Given the description of an element on the screen output the (x, y) to click on. 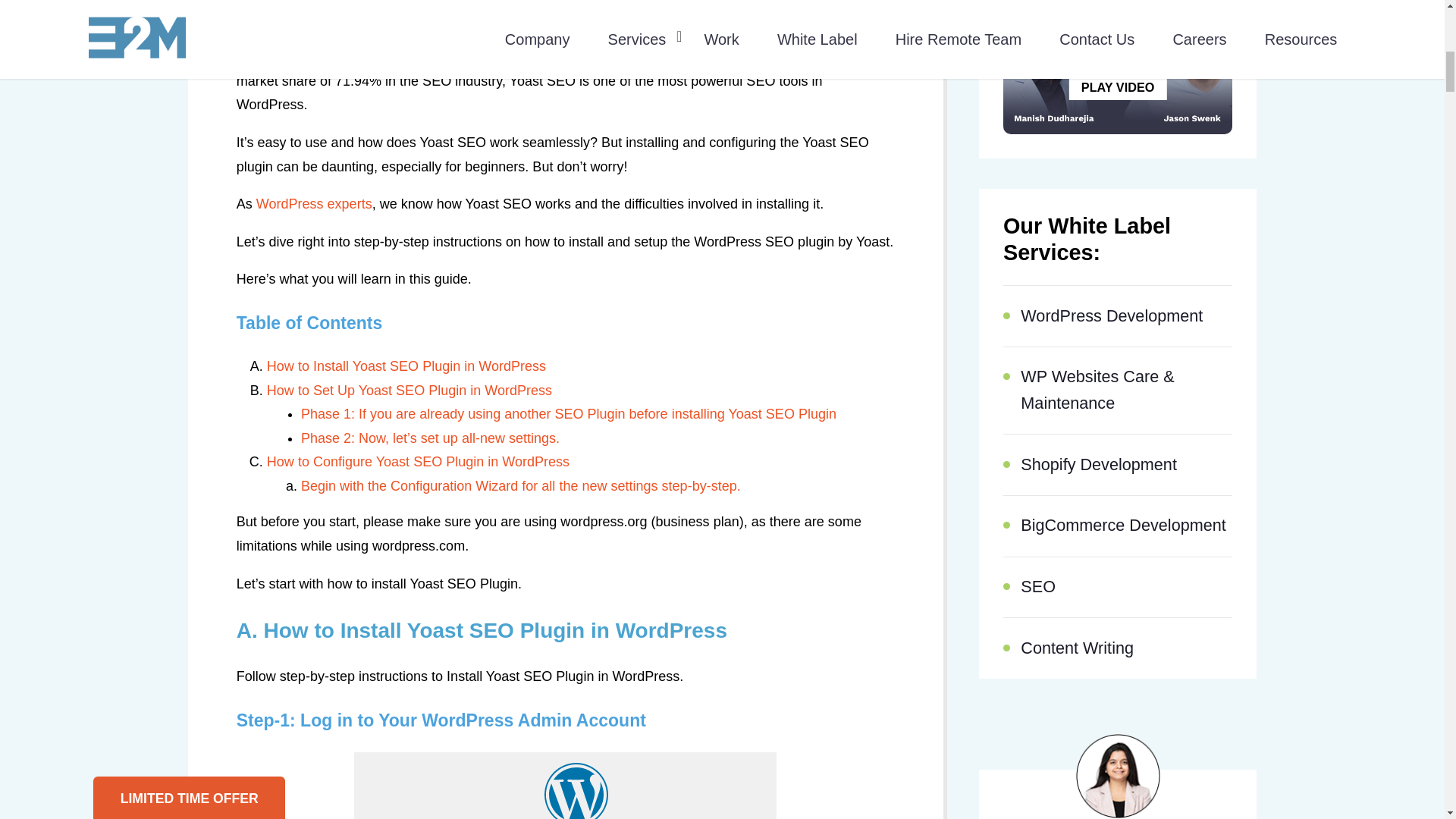
Get coupon code (150, 327)
